Given the description of an element on the screen output the (x, y) to click on. 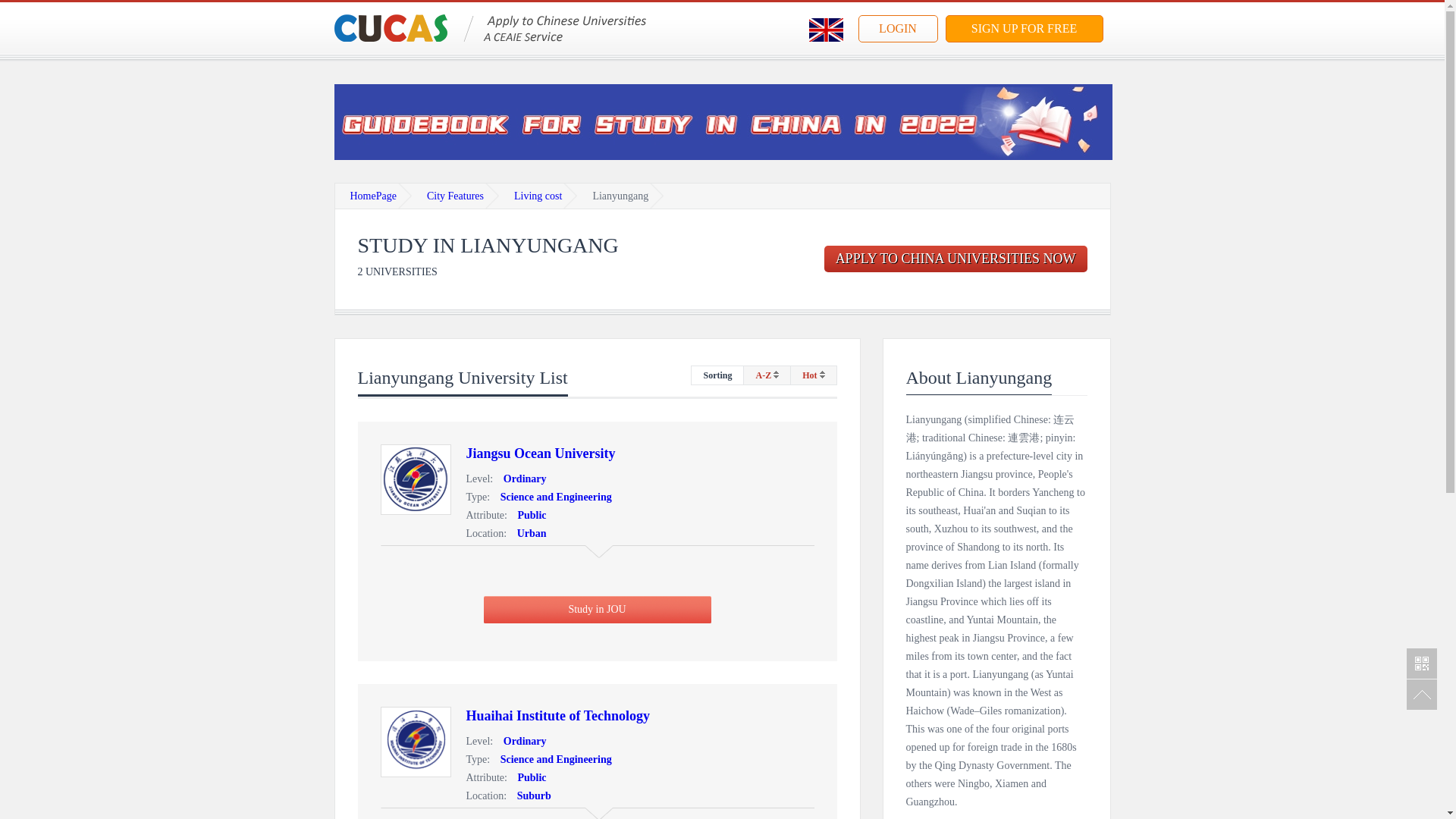
A-Z (767, 375)
LOGIN (898, 28)
Study in Jiangsu Ocean University (539, 453)
Jiangsu Ocean University (539, 453)
Urban (528, 532)
Hot (812, 375)
APPLY TO CHINA UNIVERSITIES NOW (955, 258)
SIGN UP FOR FREE (1024, 28)
HomePage (373, 195)
Science and Engineering (552, 758)
